Given the description of an element on the screen output the (x, y) to click on. 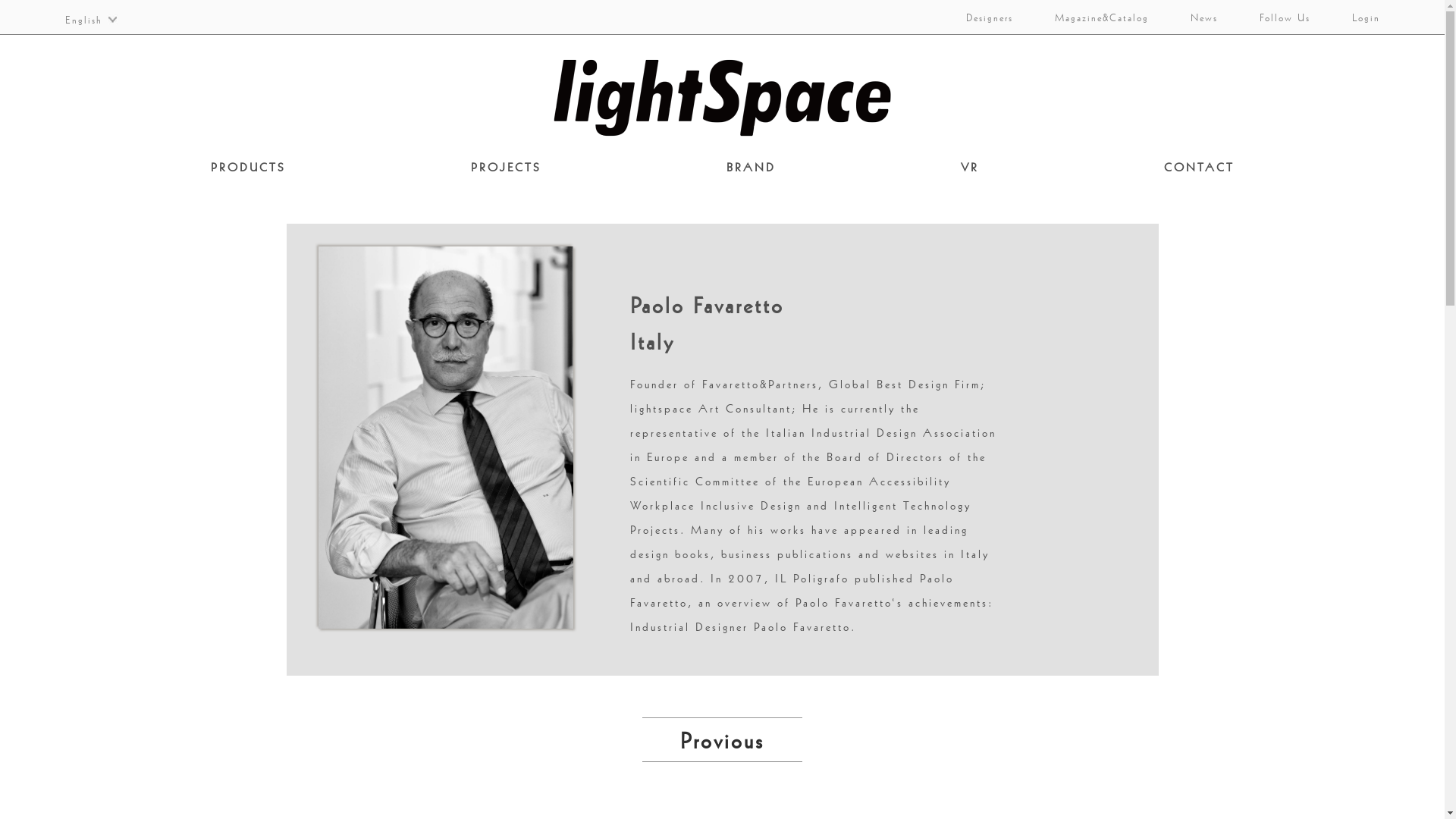
Login Element type: text (1356, 17)
Magazine&Catalog Element type: text (1091, 17)
News Element type: text (1193, 17)
VR Element type: text (968, 166)
CONTACT Element type: text (1198, 166)
BRAND Element type: text (750, 166)
LightSpace Element type: text (722, 97)
Designers Element type: text (979, 17)
PRODUCTS Element type: text (248, 166)
PROJECTS Element type: text (505, 166)
Follow Us Element type: text (1275, 17)
